Given the description of an element on the screen output the (x, y) to click on. 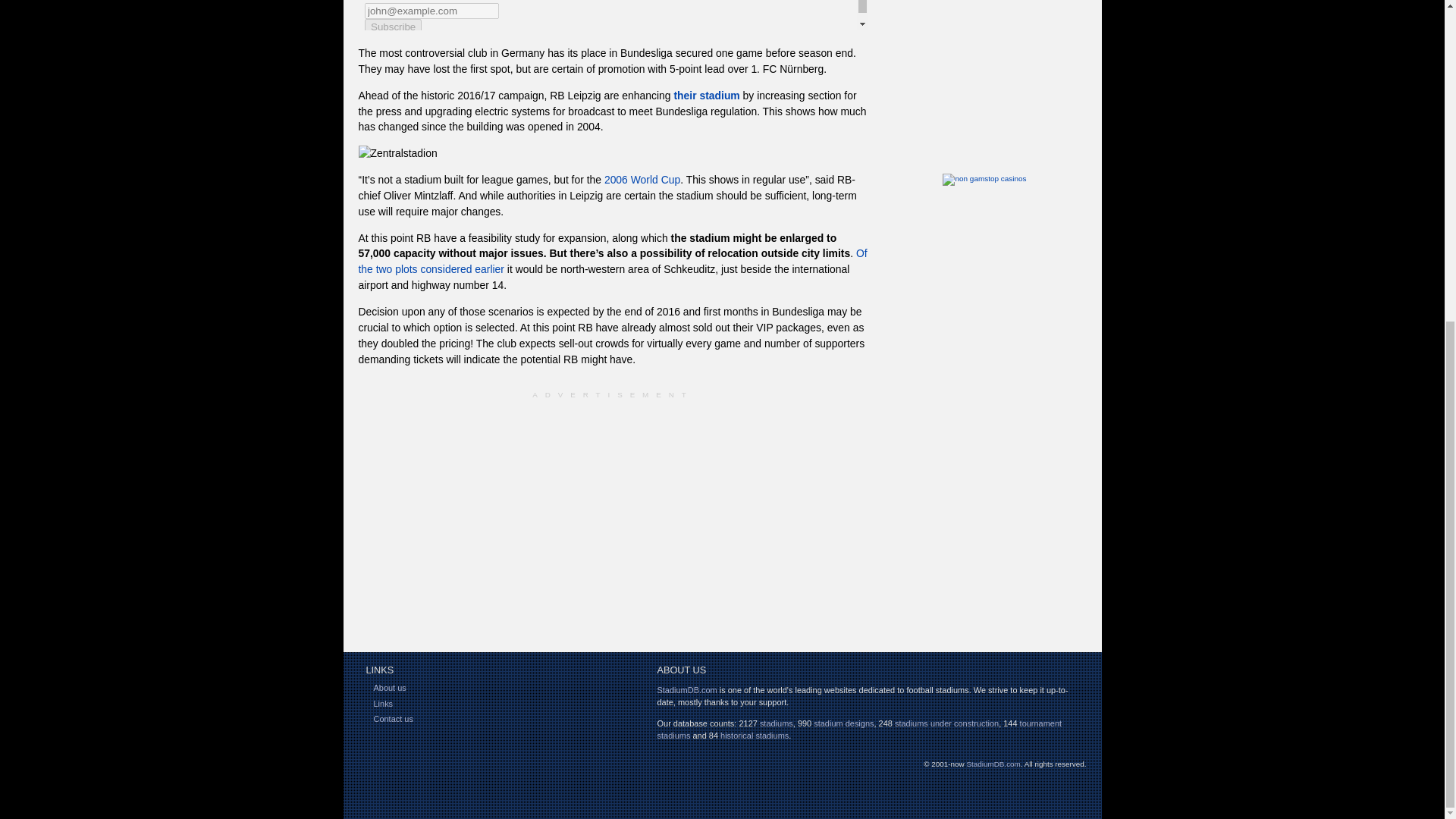
Of the two plots considered earlier (612, 261)
stadium designs (843, 723)
their stadium (705, 95)
2006 World Cup (641, 179)
stadiums (776, 723)
StadiumDB.com (686, 689)
